Given the description of an element on the screen output the (x, y) to click on. 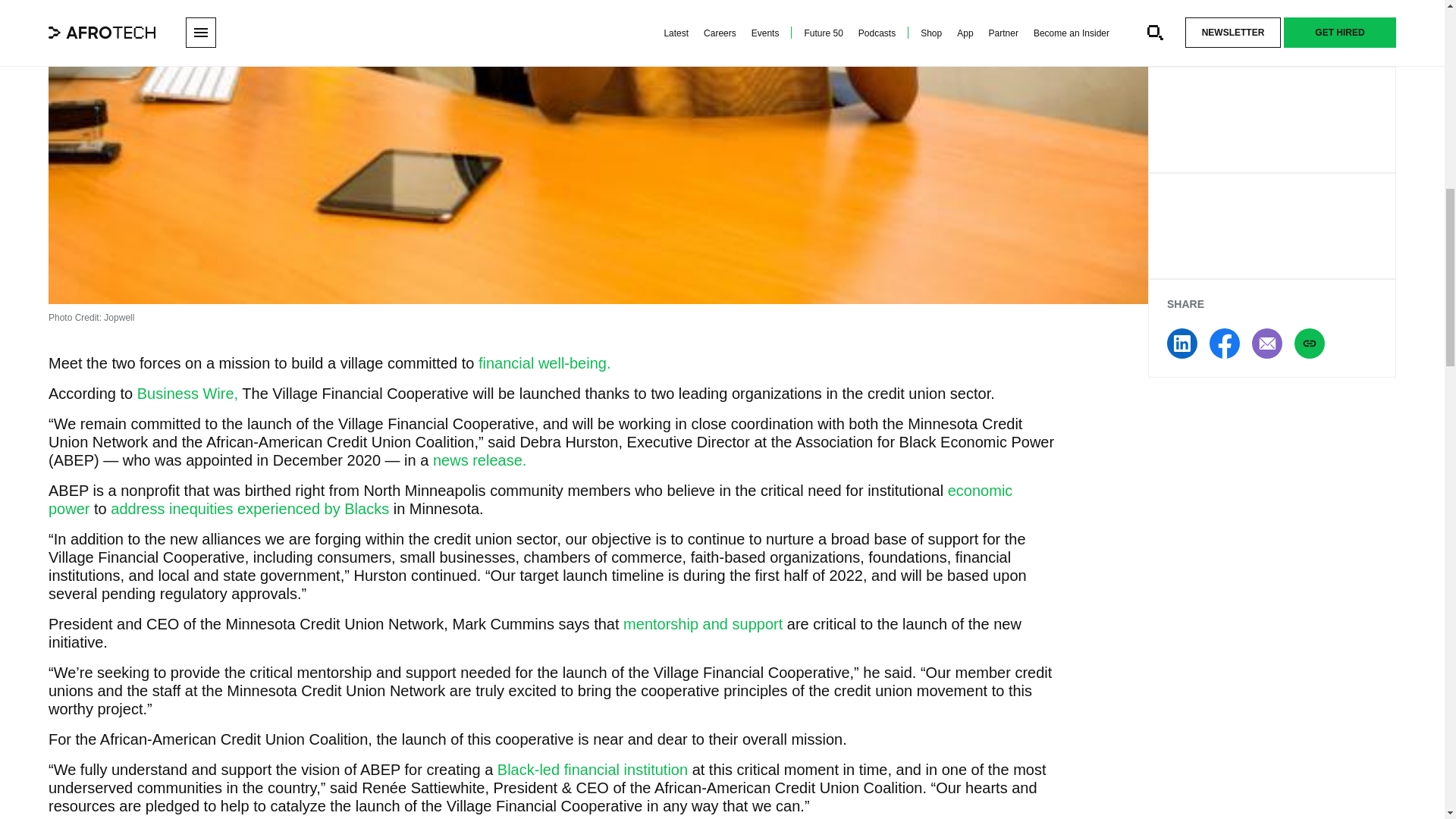
financial well-being. (542, 362)
news release. (478, 460)
Black-led financial institution (592, 769)
address inequities experienced by Blacks (249, 508)
Business Wire, (187, 393)
economic power (529, 499)
mentorship and support (703, 623)
